Given the description of an element on the screen output the (x, y) to click on. 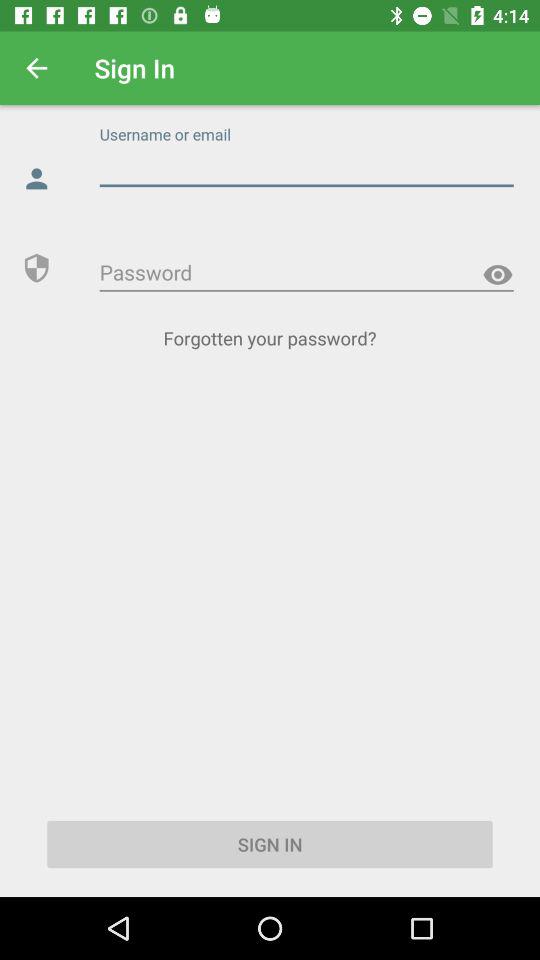
username or email input (306, 168)
